Given the description of an element on the screen output the (x, y) to click on. 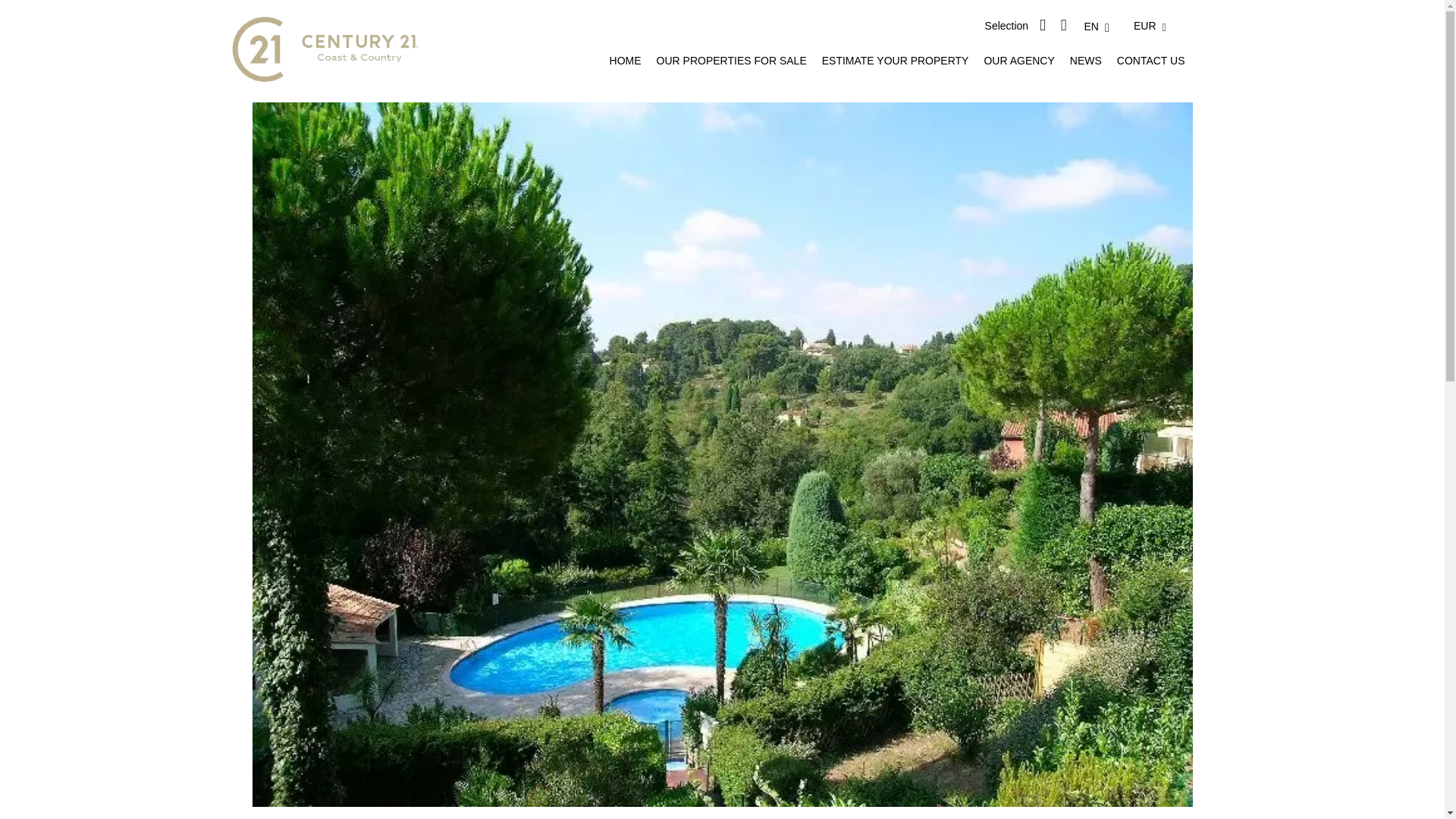
En (1101, 26)
OUR PROPERTIES FOR SALE (731, 60)
NEWS (1086, 60)
HOME (626, 60)
CONTACT US (1150, 60)
ESTIMATE YOUR PROPERTY (895, 60)
EUR (1155, 25)
Selection (1007, 25)
OUR AGENCY (1019, 60)
